Given the description of an element on the screen output the (x, y) to click on. 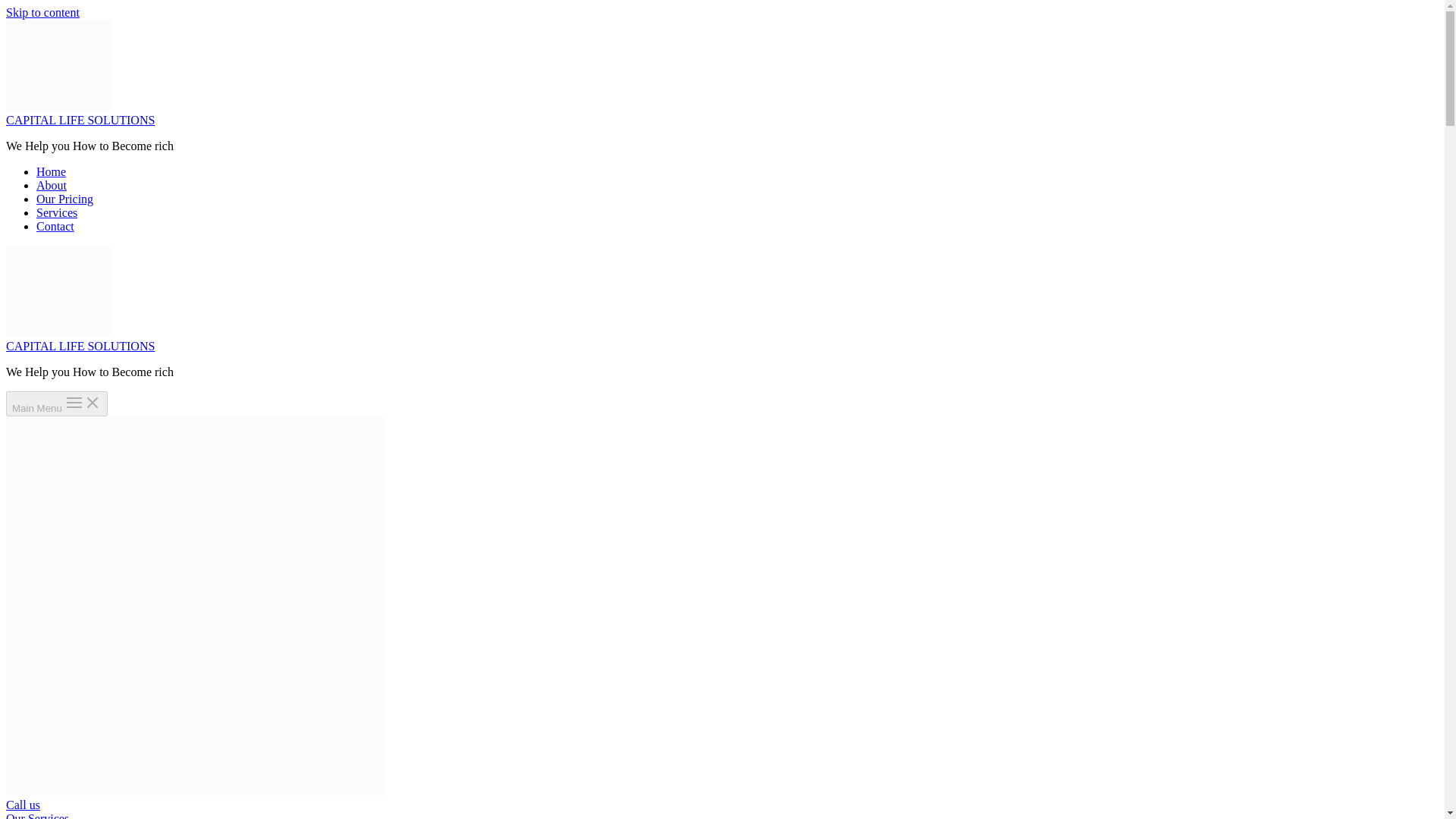
Skip to content (42, 11)
Contact (55, 226)
CAPITAL LIFE SOLUTIONS (79, 345)
Our Pricing (64, 198)
About (51, 185)
Main Menu (56, 403)
Skip to content (42, 11)
Our Services (36, 815)
Services (56, 212)
Home (50, 171)
